Given the description of an element on the screen output the (x, y) to click on. 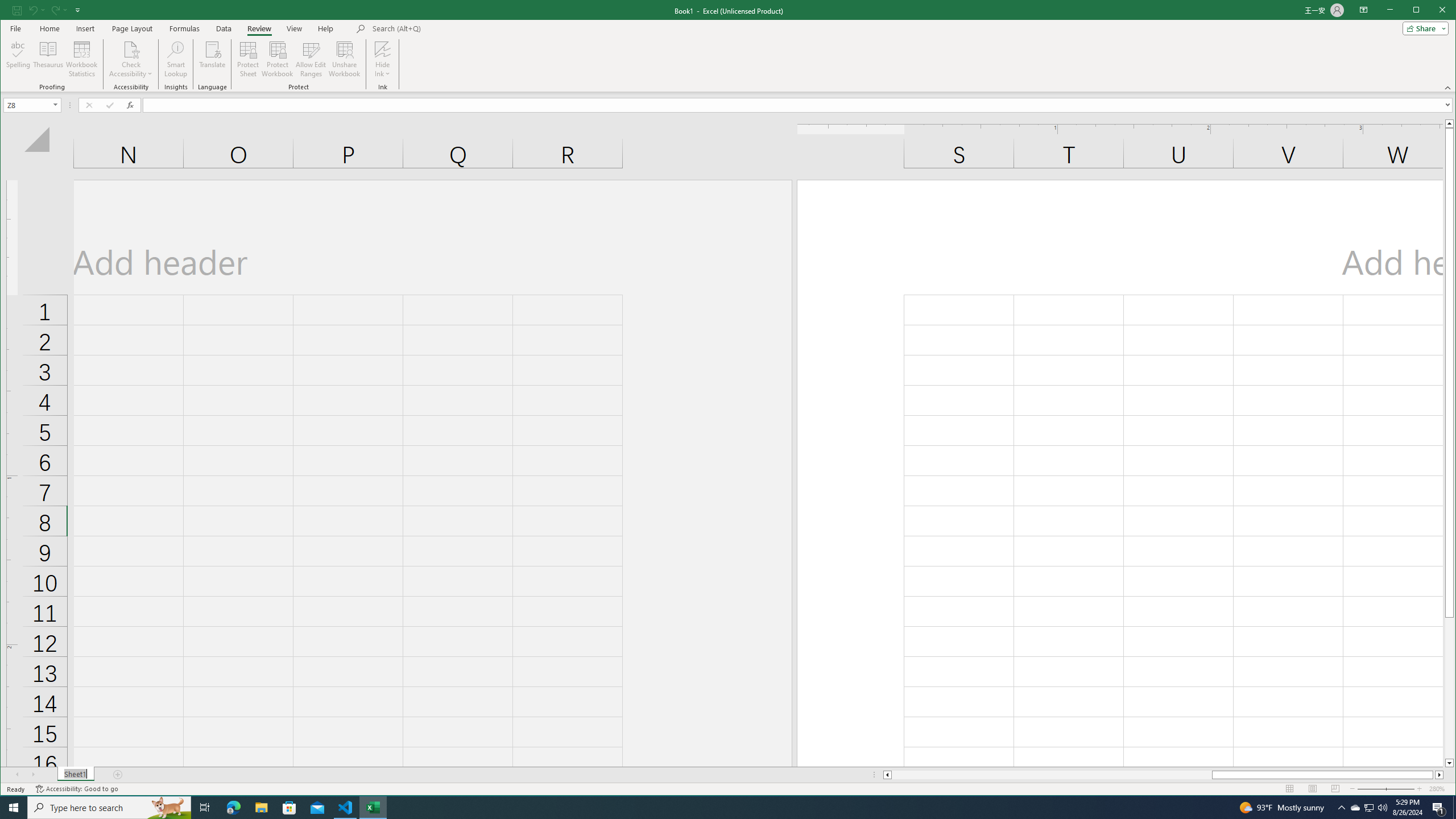
Excel - 1 running window (373, 807)
Protect Sheet... (247, 59)
